Given the description of an element on the screen output the (x, y) to click on. 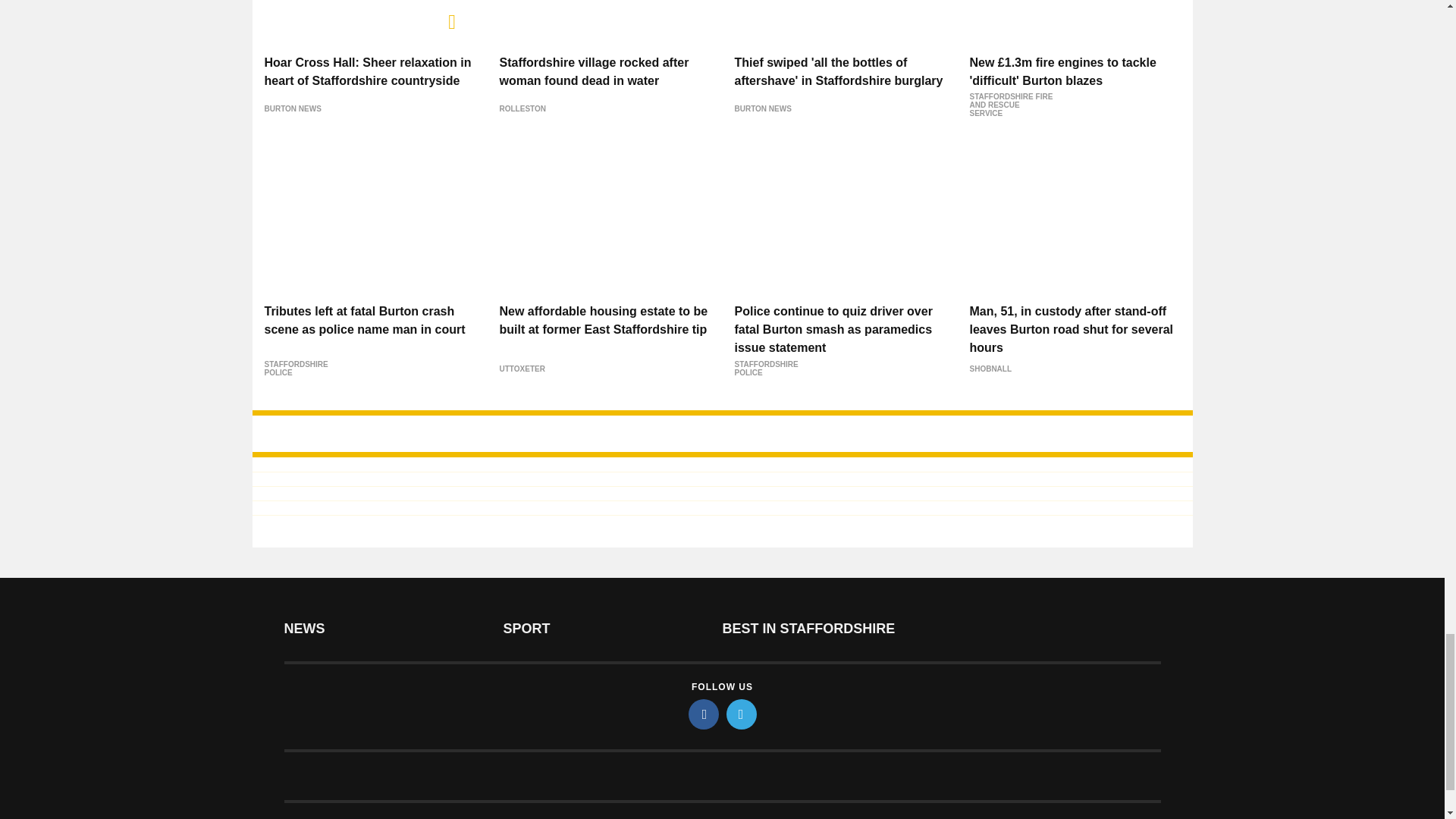
twitter (741, 714)
facebook (703, 714)
